Given the description of an element on the screen output the (x, y) to click on. 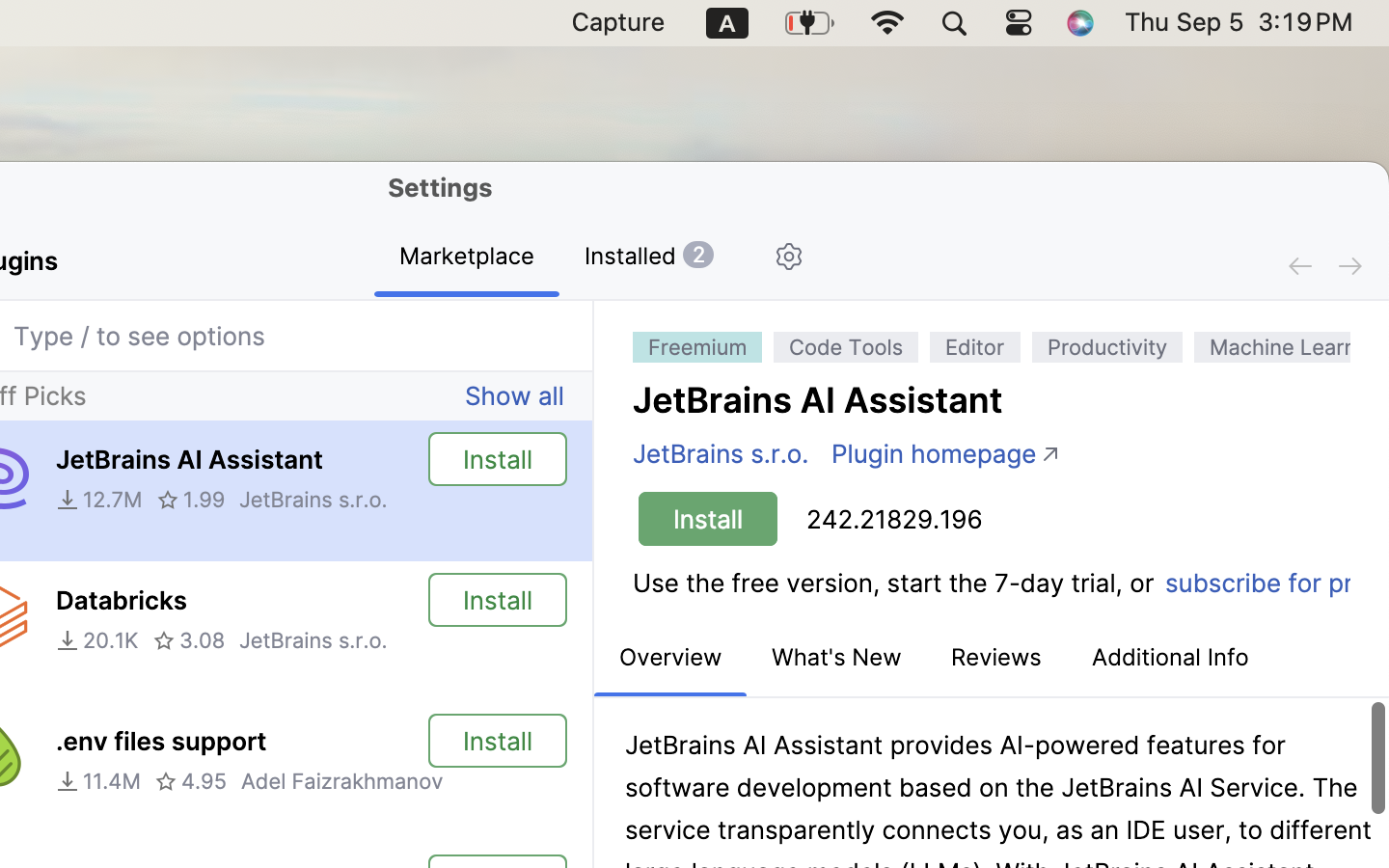
3.08 Element type: AXStaticText (188, 639)
Databricks Element type: AXStaticText (121, 600)
Settings Element type: AXStaticText (440, 186)
True Element type: AXRadioButton (466, 257)
<AXUIElement 0x12bf361a0> {pid=3432} Element type: AXTabGroup (559, 258)
